Given the description of an element on the screen output the (x, y) to click on. 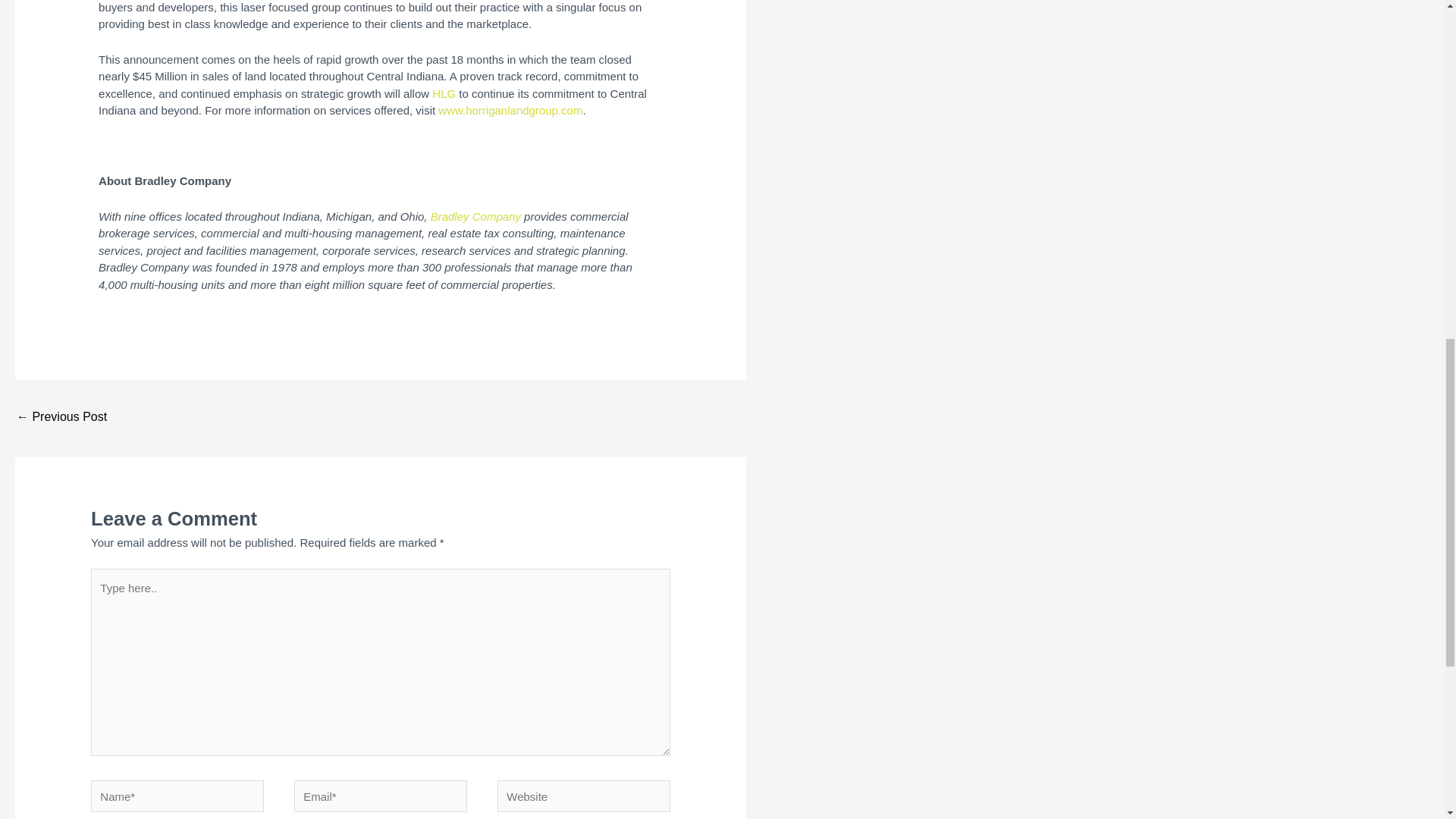
Duke Realty Corporation (61, 418)
Bradley Company (475, 215)
HLG (443, 92)
www.horriganlandgroup.com (510, 110)
